Given the description of an element on the screen output the (x, y) to click on. 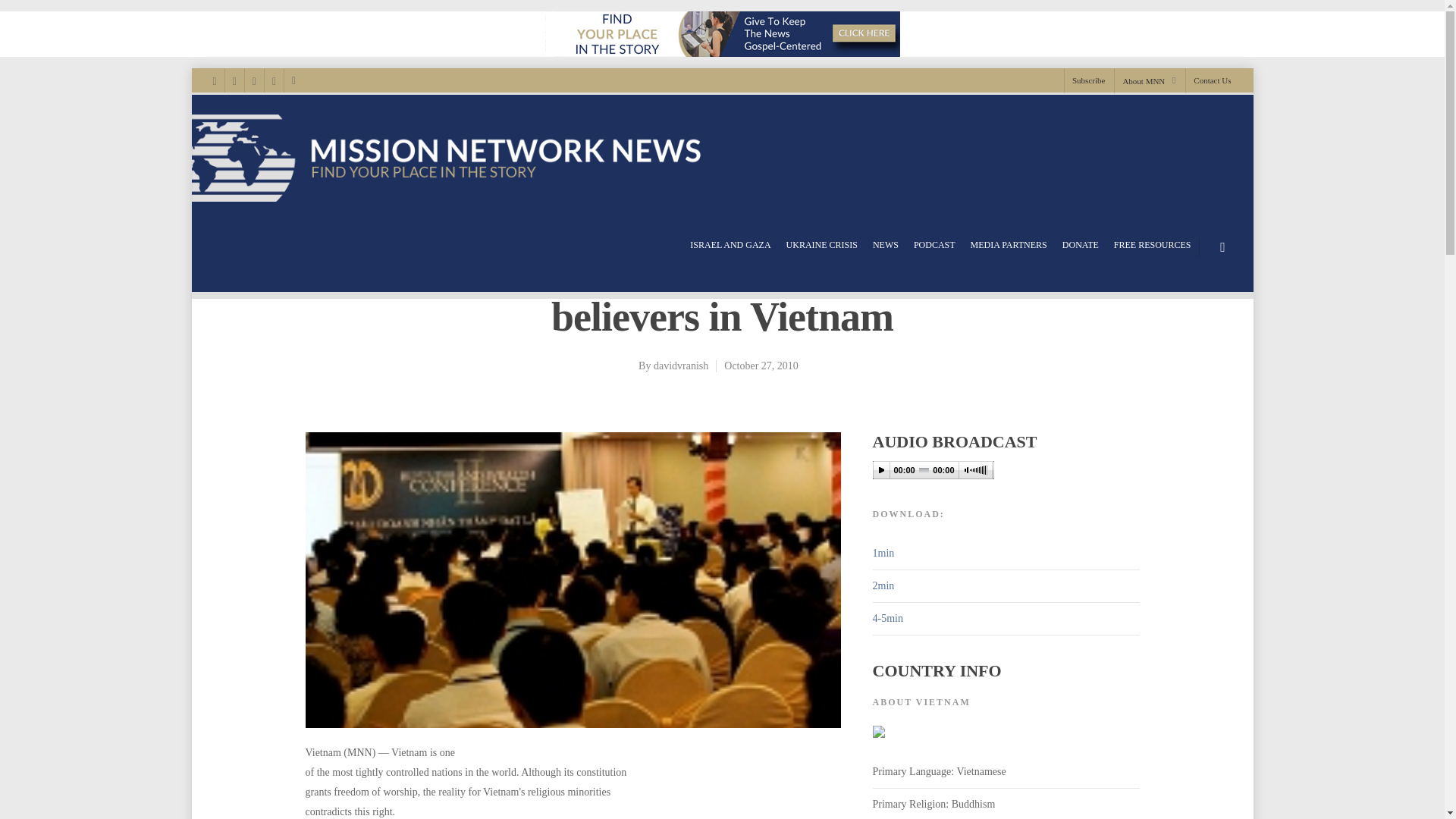
About MNN (1148, 80)
ISRAEL AND GAZA (730, 245)
Contact Us (1207, 80)
davidvranish (680, 365)
Posts by davidvranish (680, 365)
Subscribe (1088, 80)
